Given the description of an element on the screen output the (x, y) to click on. 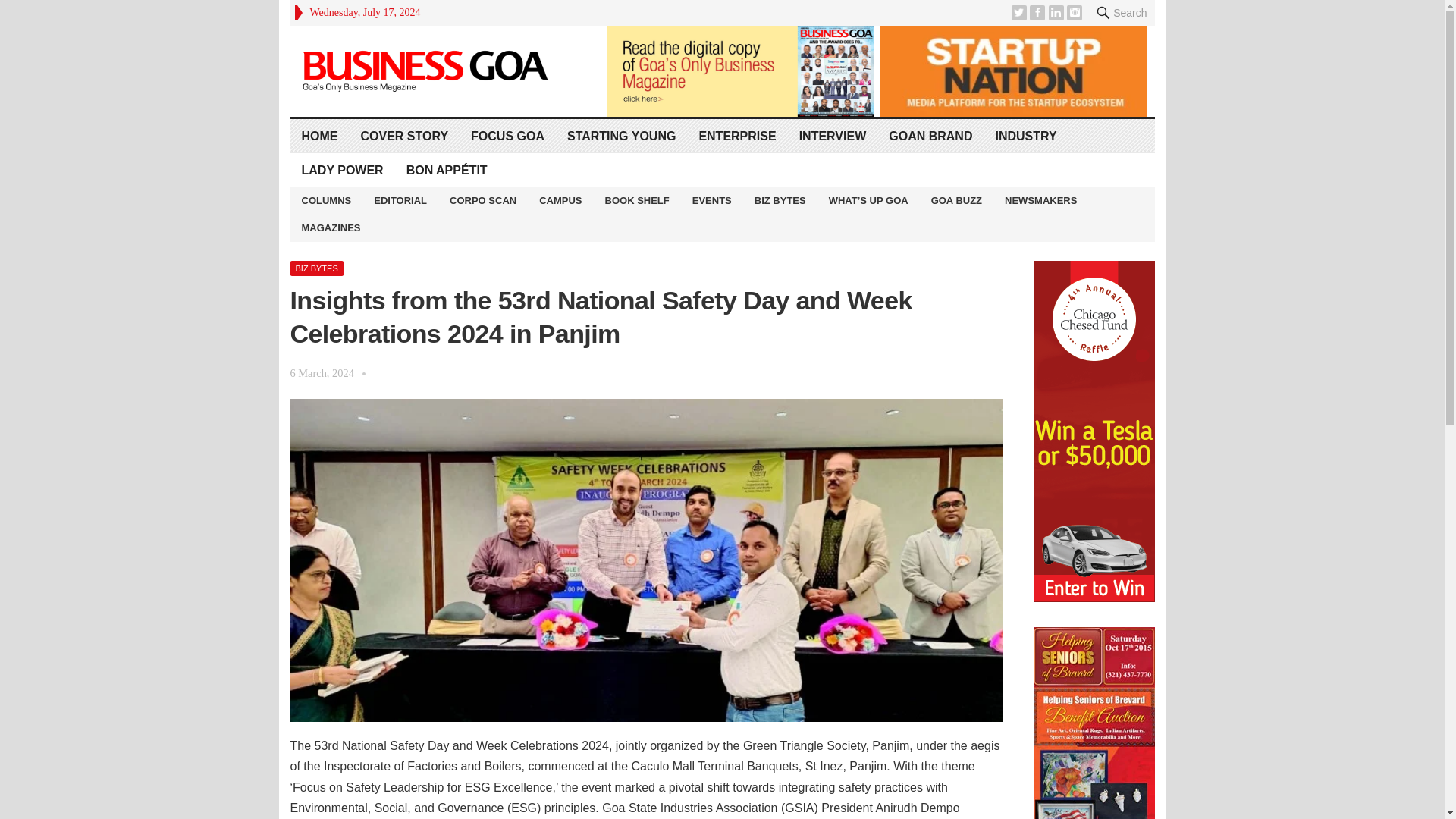
CAMPUS (559, 200)
EVENTS (711, 200)
BIZ BYTES (779, 200)
HOME (319, 135)
BOOK SHELF (637, 200)
COLUMNS (325, 200)
GOAN BRAND (930, 135)
GOA BUZZ (956, 200)
CORPO SCAN (482, 200)
View all posts in Biz Bytes (315, 268)
LADY POWER (341, 170)
STARTING YOUNG (621, 135)
MAGAZINES (330, 227)
COVER STORY (404, 135)
EDITORIAL (400, 200)
